Given the description of an element on the screen output the (x, y) to click on. 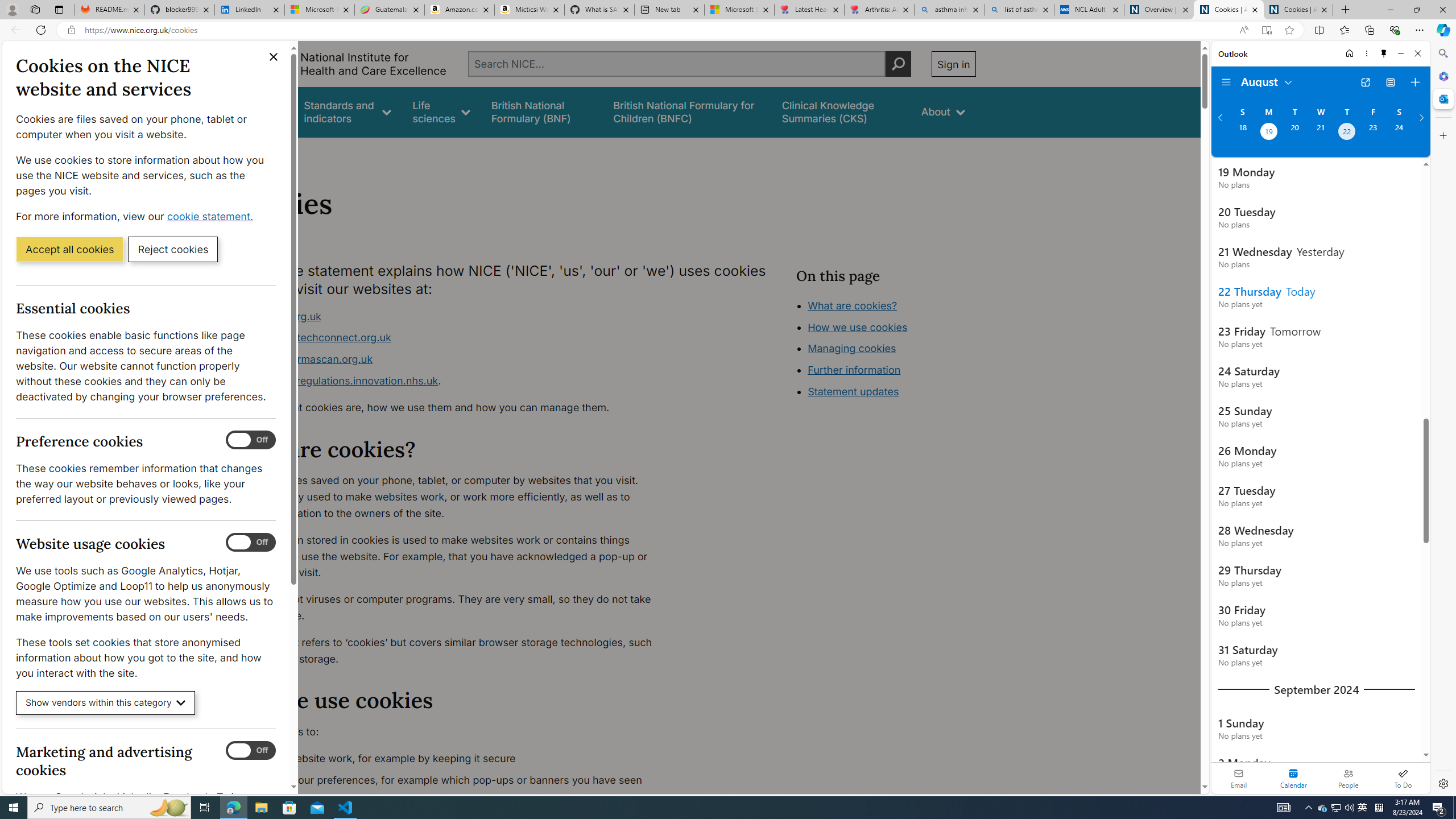
Home> (246, 152)
Selected calendar module. Date today is 22 (1293, 777)
Folder navigation (1225, 82)
www.nice.org.uk (279, 315)
About (942, 111)
Arthritis: Ask Health Professionals (879, 9)
